Given the description of an element on the screen output the (x, y) to click on. 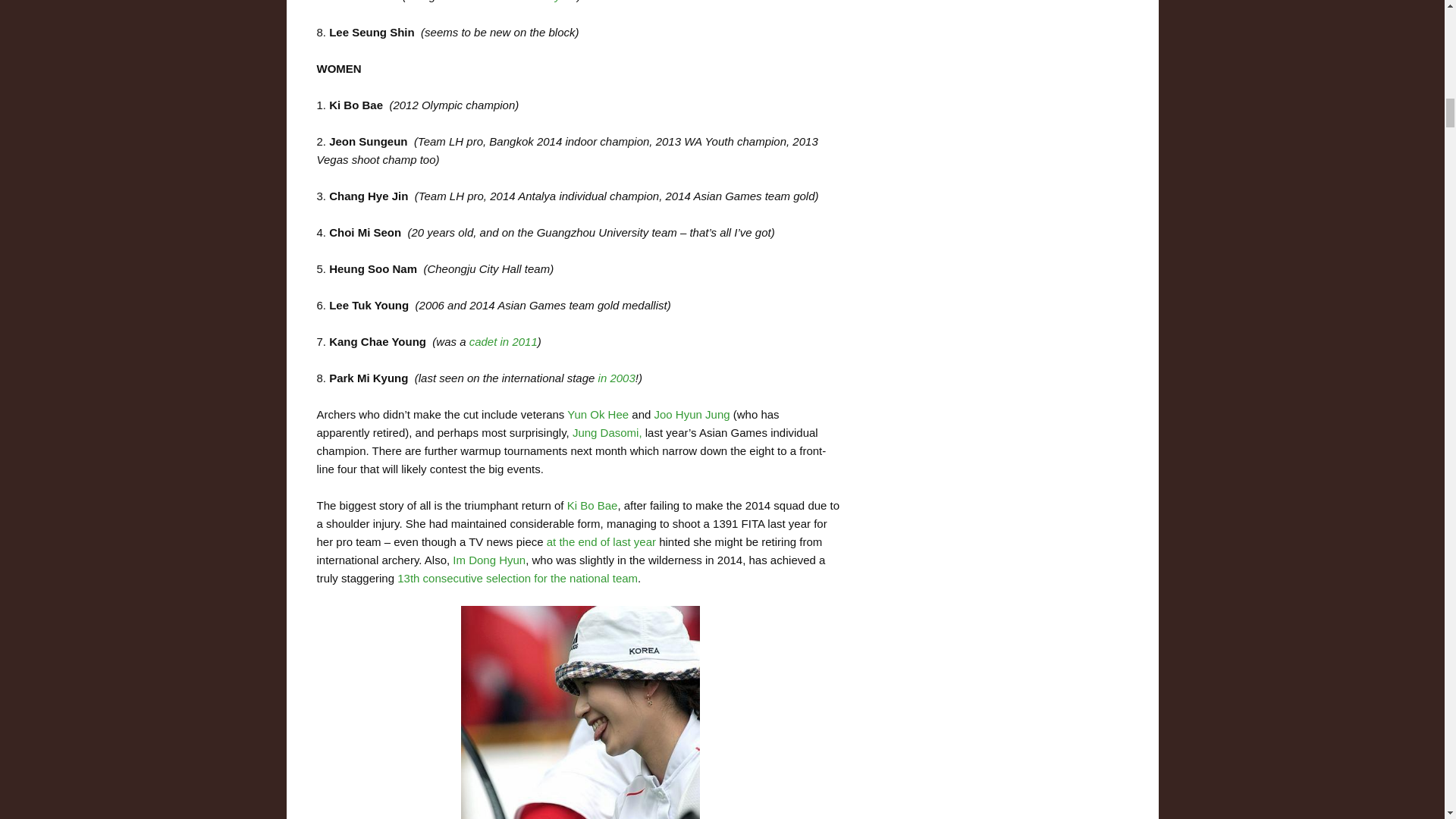
13th consecutive selection for the national team (517, 577)
at the end of last year (601, 541)
in 2003 (616, 377)
Joo Hyun Jung (691, 413)
Ki Bo Bae (592, 504)
last year (555, 1)
cadet in 2011 (502, 341)
Yun Ok Hee (597, 413)
Jung Dasomi, (607, 431)
Im Dong Hyun (488, 559)
